Given the description of an element on the screen output the (x, y) to click on. 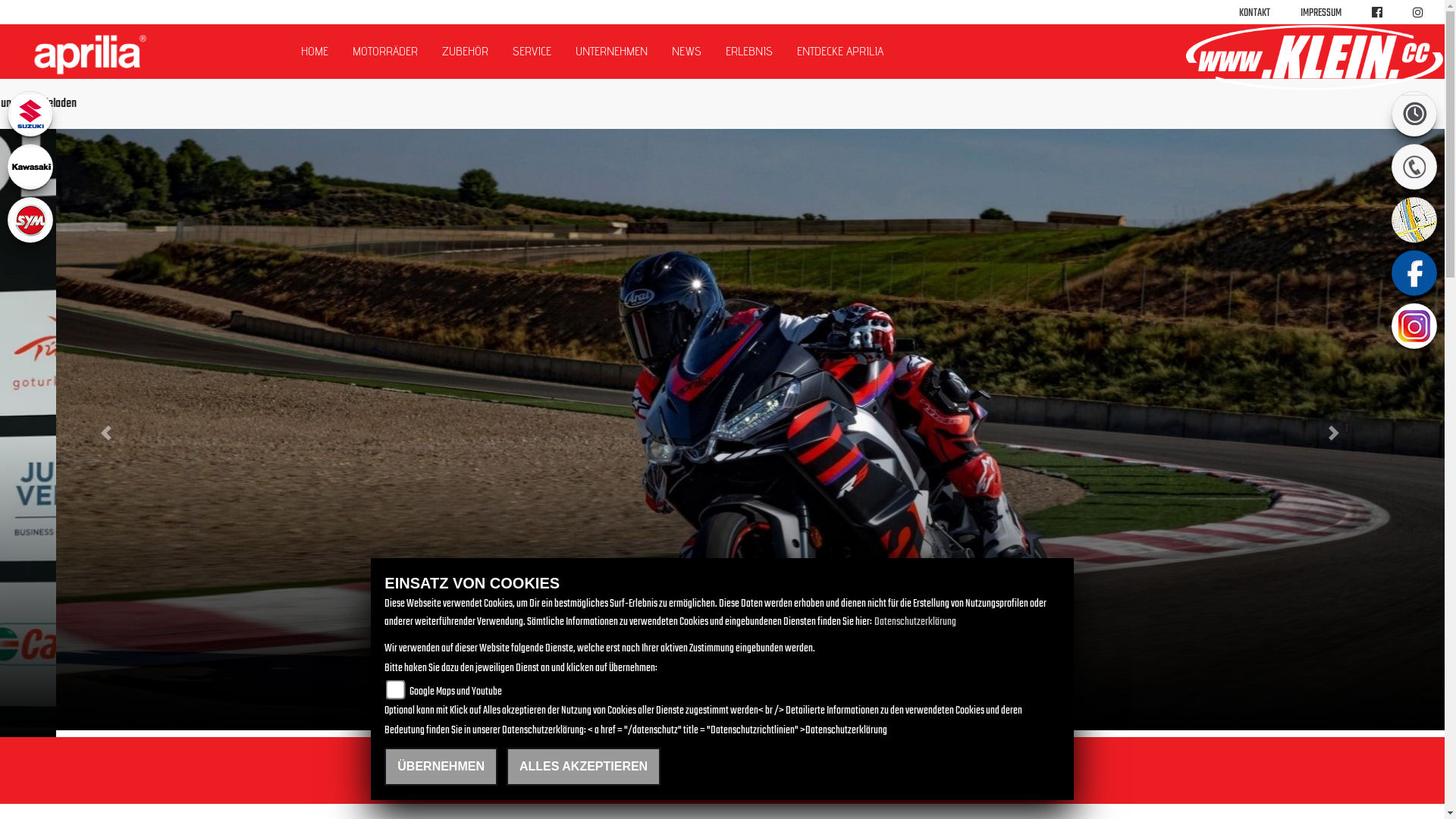
Next Element type: text (1335, 432)
UNTERNEHMEN Element type: text (611, 51)
NEWS Element type: text (686, 51)
ALLES AKZEPTIEREN Element type: text (583, 766)
ERLEBNIS Element type: text (748, 51)
G. Klein Handels GmbH Logo Element type: hover (1314, 57)
HOME Element type: text (314, 51)
IMPRESSUM Element type: text (1320, 13)
Previous Element type: text (108, 432)
ENTDECKE APRILIA Element type: text (839, 51)
APRILIA TUAREG ON THE PODIUM AT THE TRANSANATOLIA RALLY Element type: text (722, 572)
MEHR INFOS Element type: text (356, 630)
SERVICE Element type: text (531, 51)
KONTAKT Element type: text (1254, 13)
aprilia Logo Element type: hover (89, 54)
